Given the description of an element on the screen output the (x, y) to click on. 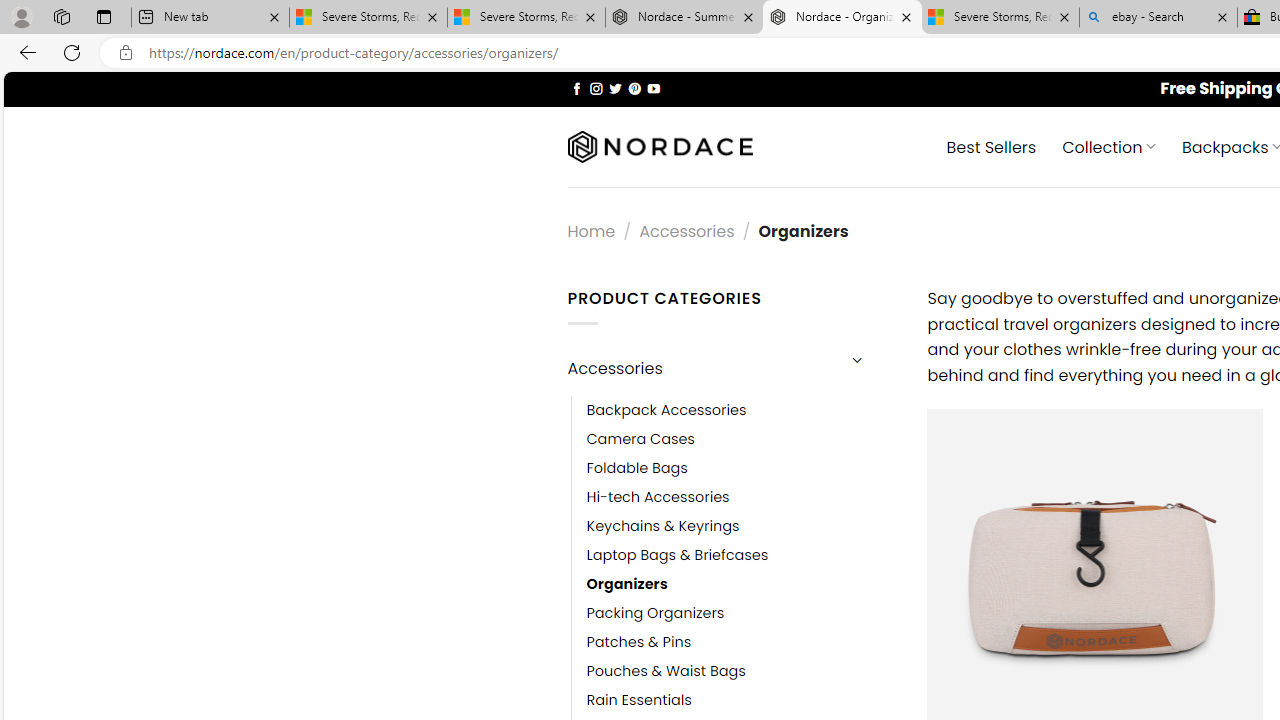
Patches & Pins (742, 642)
ebay - Search (1158, 17)
Rain Essentials (639, 700)
